Given the description of an element on the screen output the (x, y) to click on. 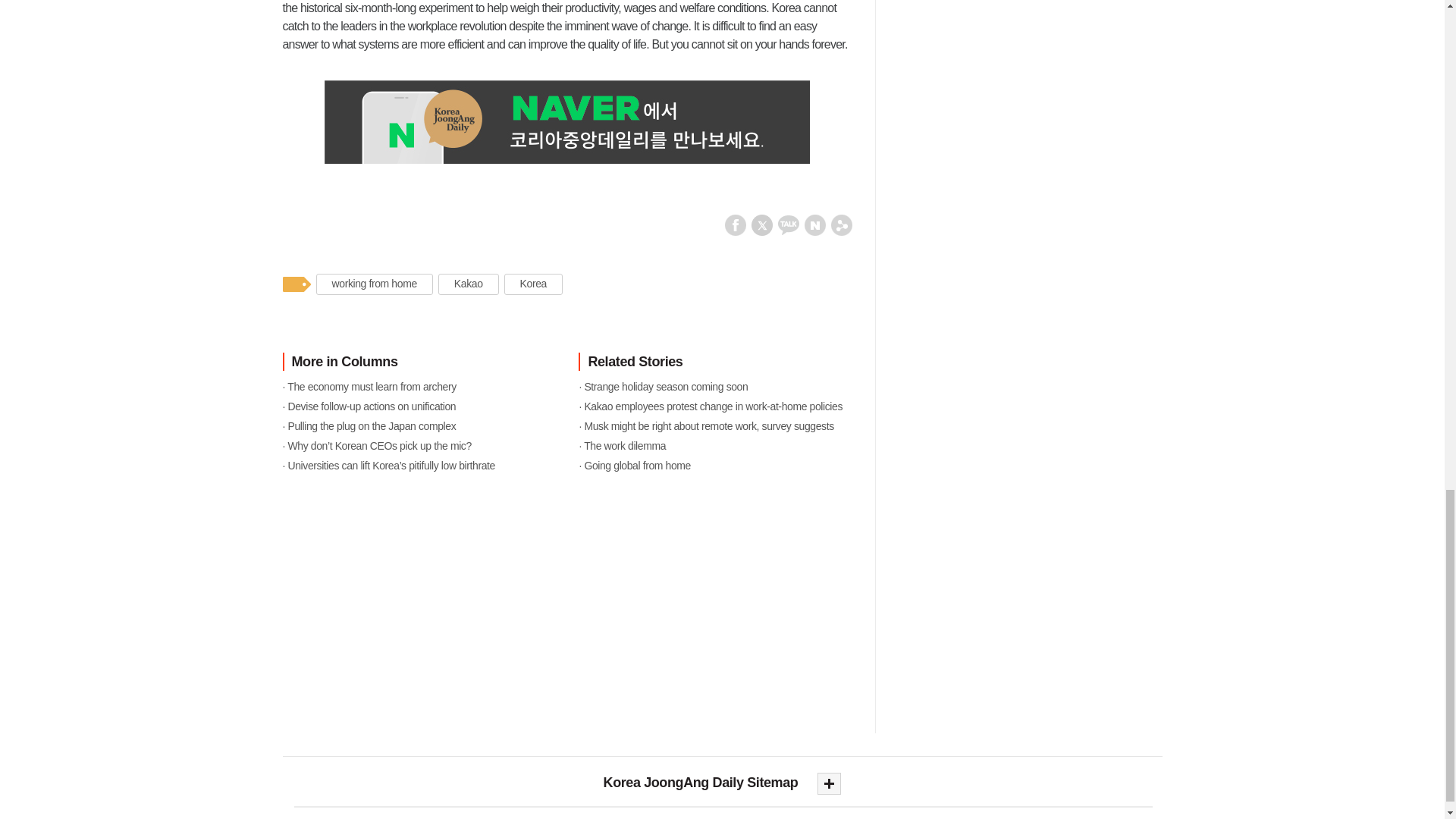
working from home (373, 283)
Share to Twitter New Window (762, 223)
Copy URL To Clipboard (841, 223)
Pulling the plug on the Japan complex (419, 425)
Share to Facebook New Window (735, 223)
Going global from home (714, 465)
Devise follow-up actions on unification (419, 406)
Kakao (468, 283)
Share to Naver Blog New Window (815, 223)
Share to KakaoTalk New Window (788, 223)
